Given the description of an element on the screen output the (x, y) to click on. 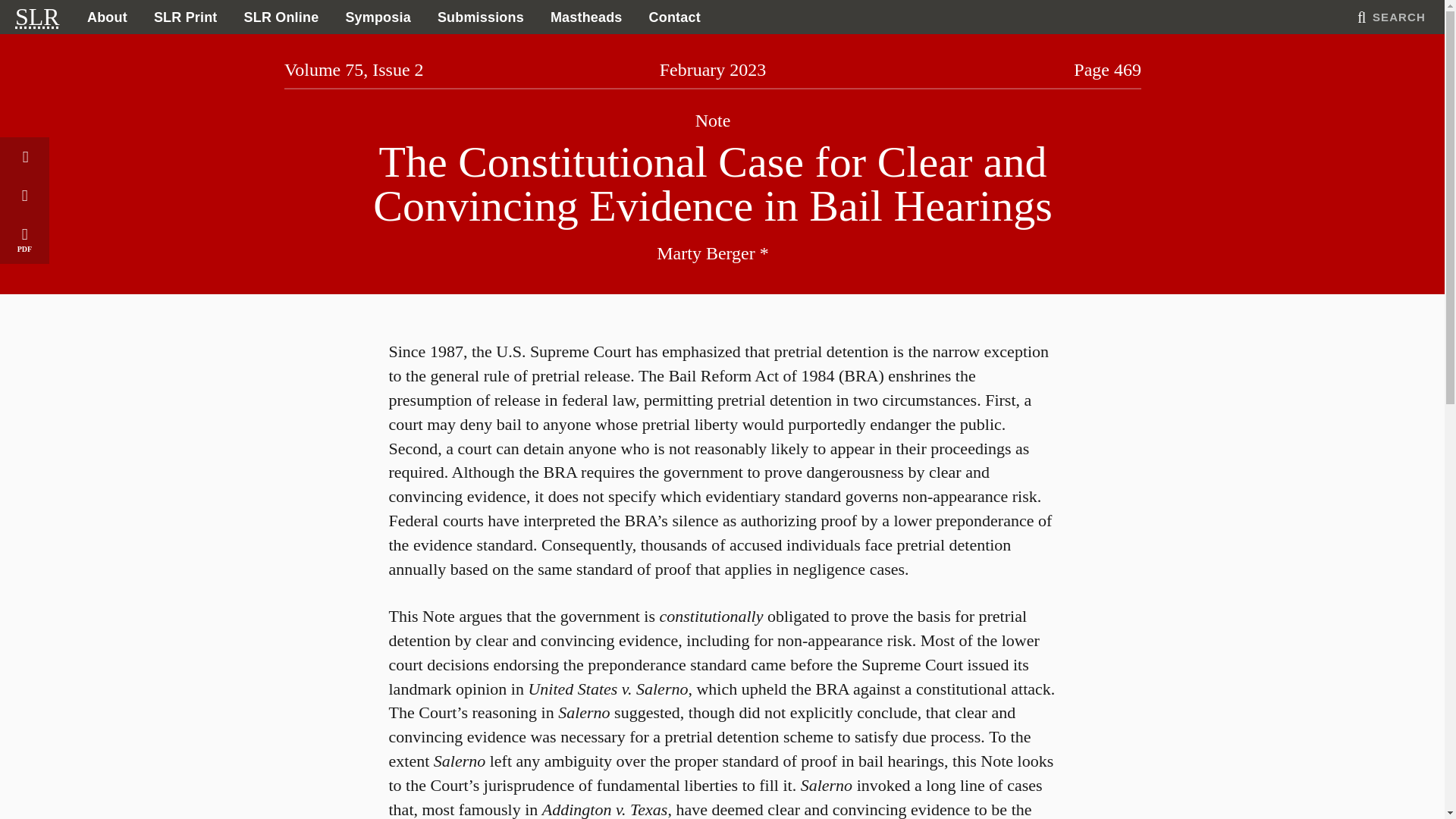
Volume 75, Issue 2 (353, 69)
About (106, 17)
SLR Print (185, 17)
SLR Online (281, 17)
Stanford Law Review (36, 16)
Symposia (377, 17)
SHARE ON TWITTER (24, 156)
Go to the Stanford Law Review homepage. (36, 17)
Submissions (480, 17)
SHARE ON FACEBOOK (24, 195)
Share on Twitter (24, 156)
SLR (36, 17)
Mastheads (585, 17)
Download the PDF (24, 238)
Share on Facebook (24, 195)
